Given the description of an element on the screen output the (x, y) to click on. 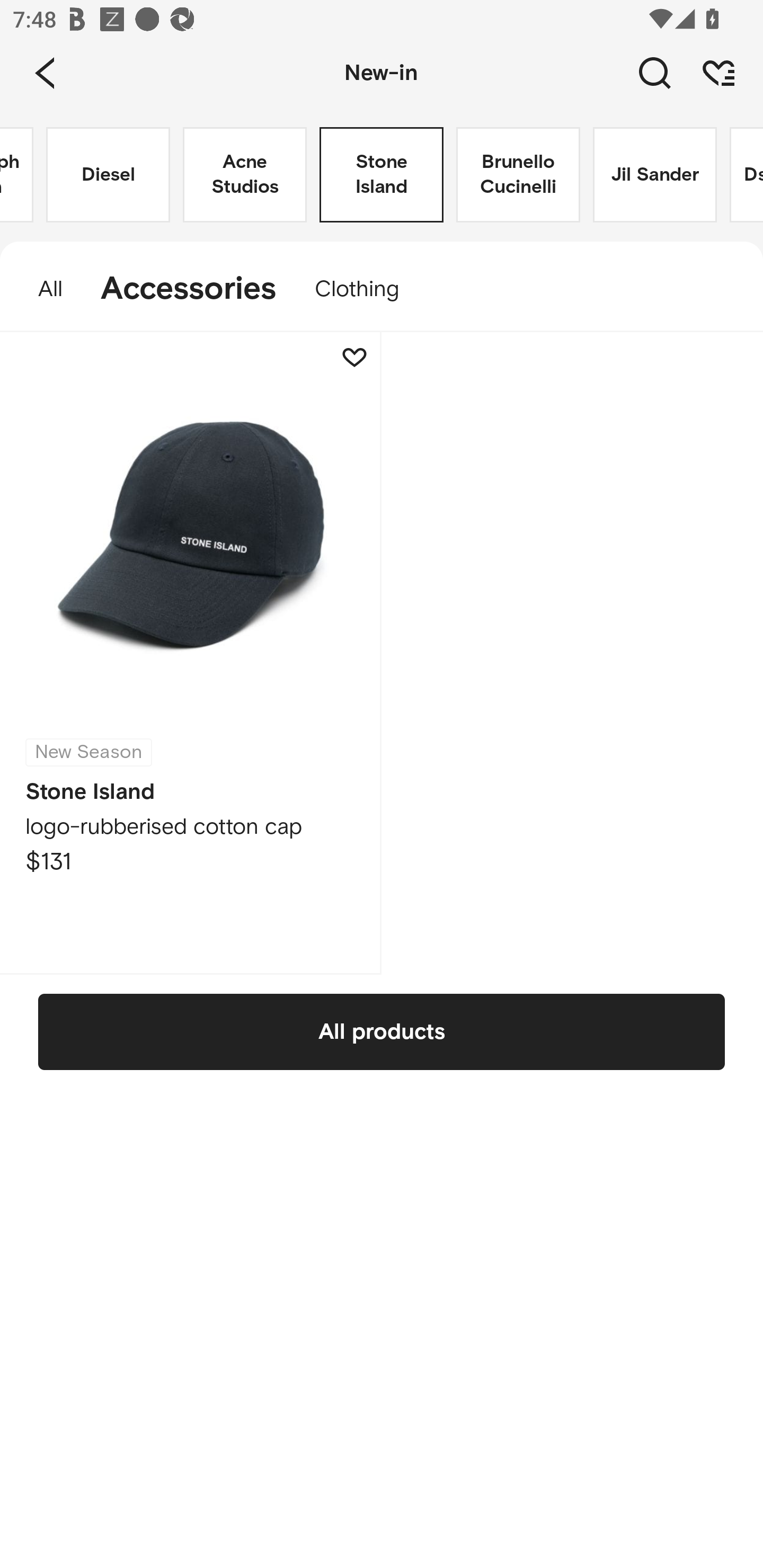
Diesel (107, 174)
Acne Studios (244, 174)
Stone Island (381, 174)
Brunello Cucinelli (517, 174)
Jil Sander (654, 174)
All (40, 288)
Accessories (188, 288)
Clothing (366, 288)
All products (381, 1031)
